Given the description of an element on the screen output the (x, y) to click on. 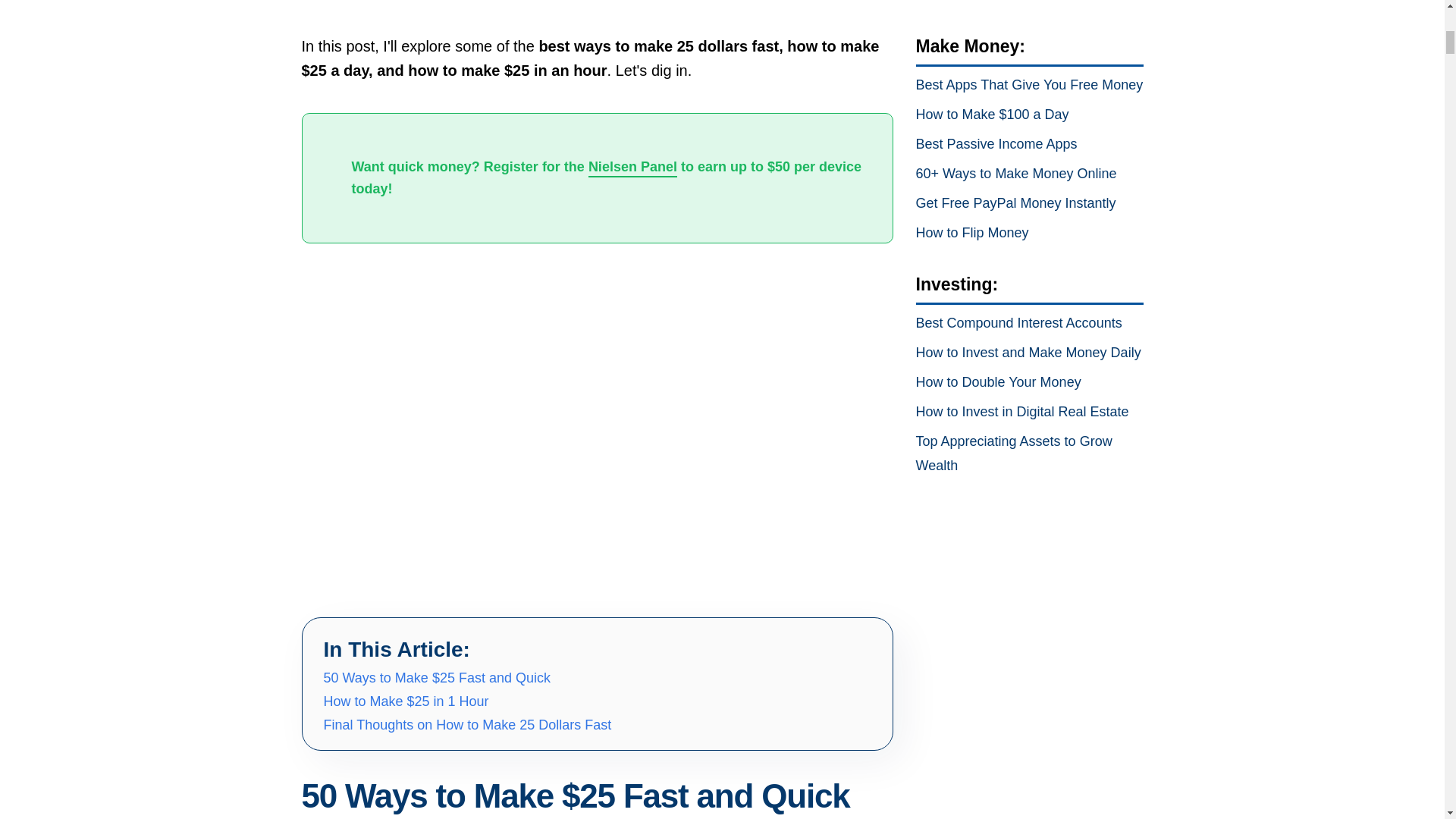
Nielsen Panel (632, 167)
Nielsen Panel (632, 167)
Final Thoughts on How to Make 25 Dollars Fast (467, 724)
